Given the description of an element on the screen output the (x, y) to click on. 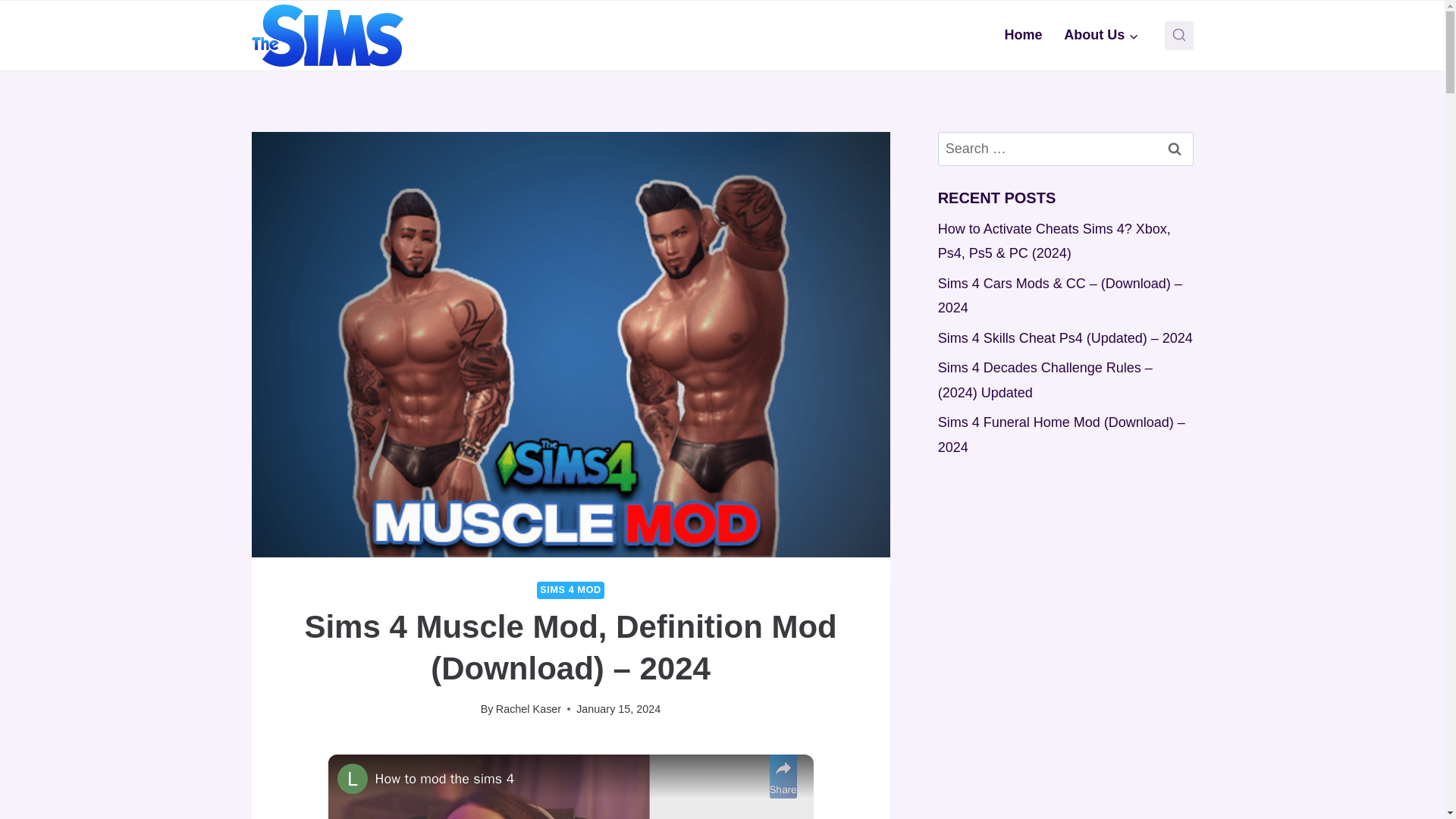
SIMS 4 MOD (570, 589)
How to mod the sims 4 (568, 779)
Search (1174, 148)
Home (1022, 34)
Search (1174, 148)
Rachel Kaser (528, 708)
About Us (1101, 34)
